Given the description of an element on the screen output the (x, y) to click on. 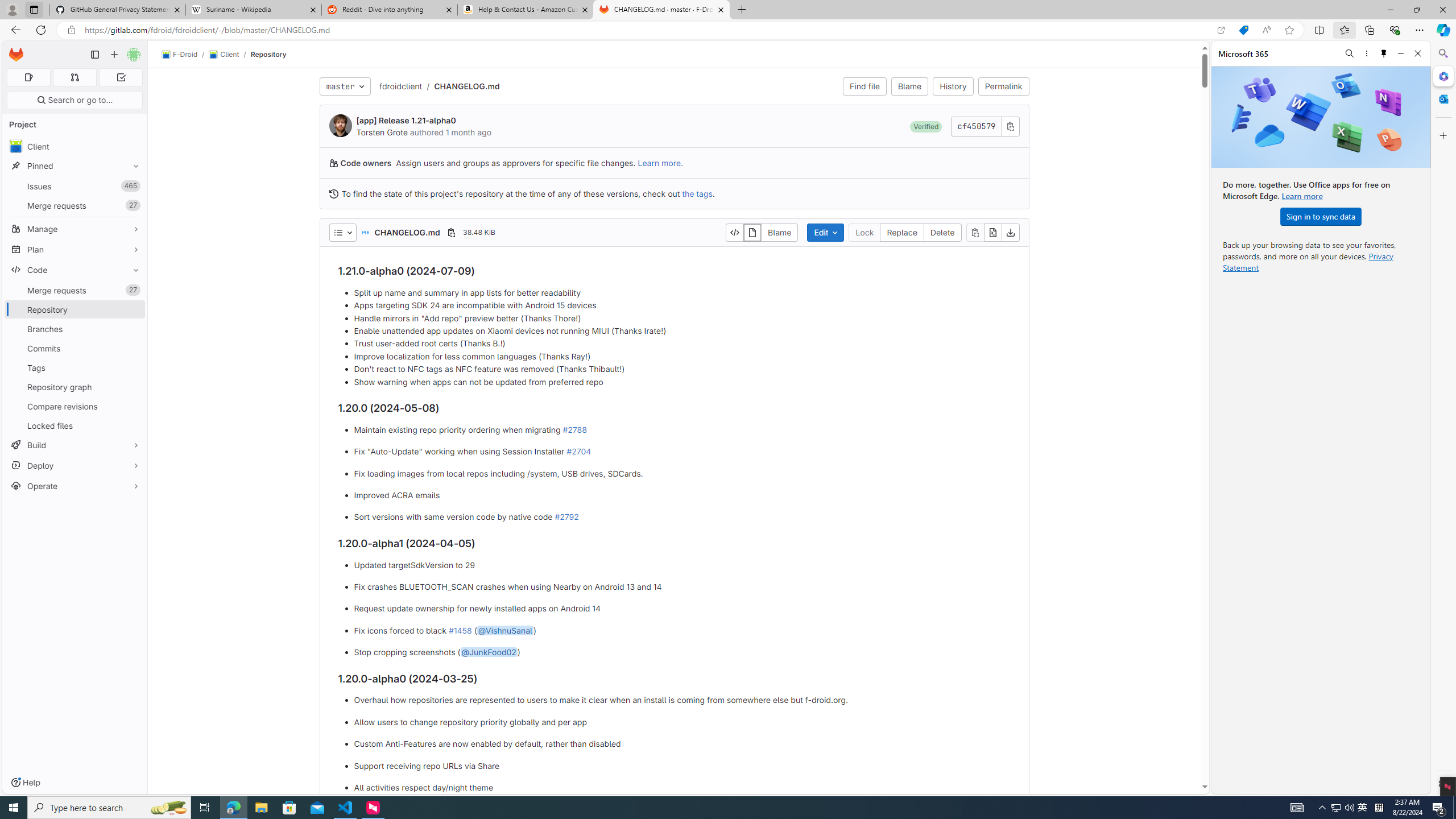
Build (74, 444)
Display rendered file (752, 232)
Open in app (1220, 29)
Branches (74, 328)
Client/ (229, 54)
#1458 (459, 629)
Repository (268, 53)
Torsten Grote's avatar (340, 125)
Plan (74, 248)
